Given the description of an element on the screen output the (x, y) to click on. 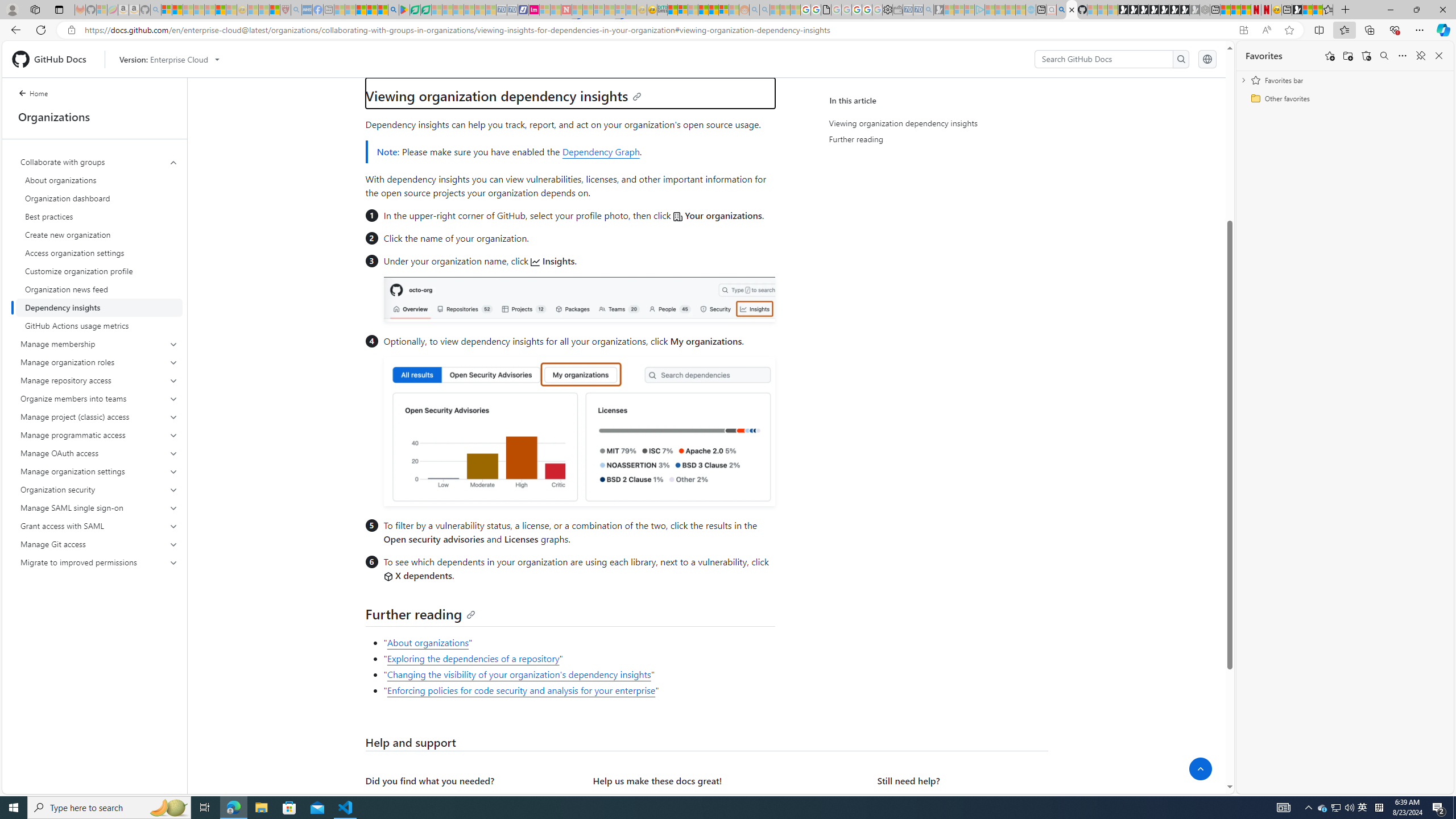
Organize members into teams (99, 398)
Search GitHub Docs (1104, 58)
Manage membership (99, 343)
2Click the name of your organization. (578, 238)
Organization dashboard (99, 198)
Viewing organization dependency insights (503, 95)
Organization news feed (99, 289)
Customize organization profile (99, 271)
Manage SAML single sign-on (99, 507)
